Given the description of an element on the screen output the (x, y) to click on. 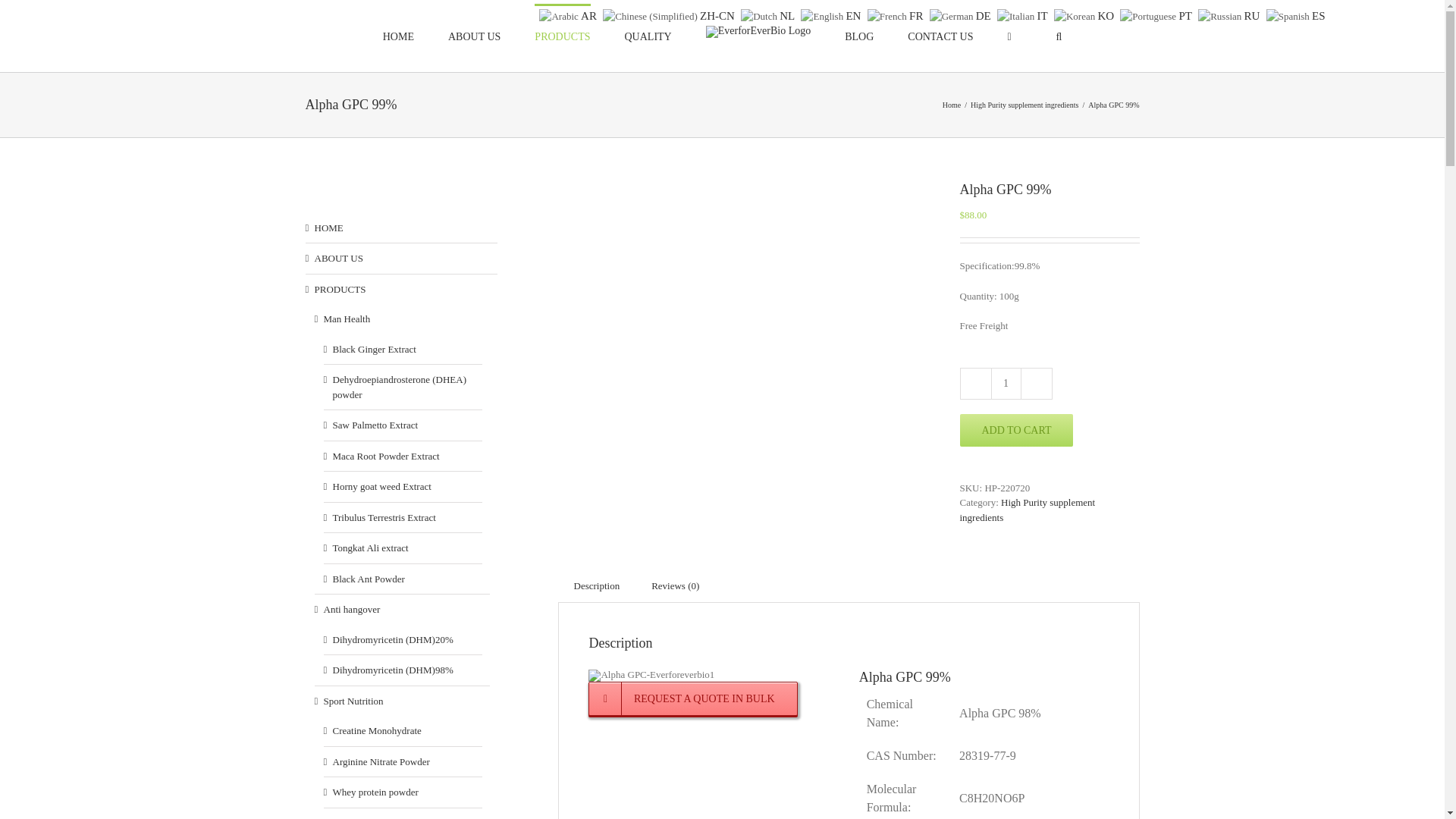
Dutch (769, 14)
1 (1005, 383)
English (832, 14)
French (897, 14)
Qty (1005, 383)
Alpha GPC-Everforeverbio1 (651, 675)
Arabic (568, 14)
